Given the description of an element on the screen output the (x, y) to click on. 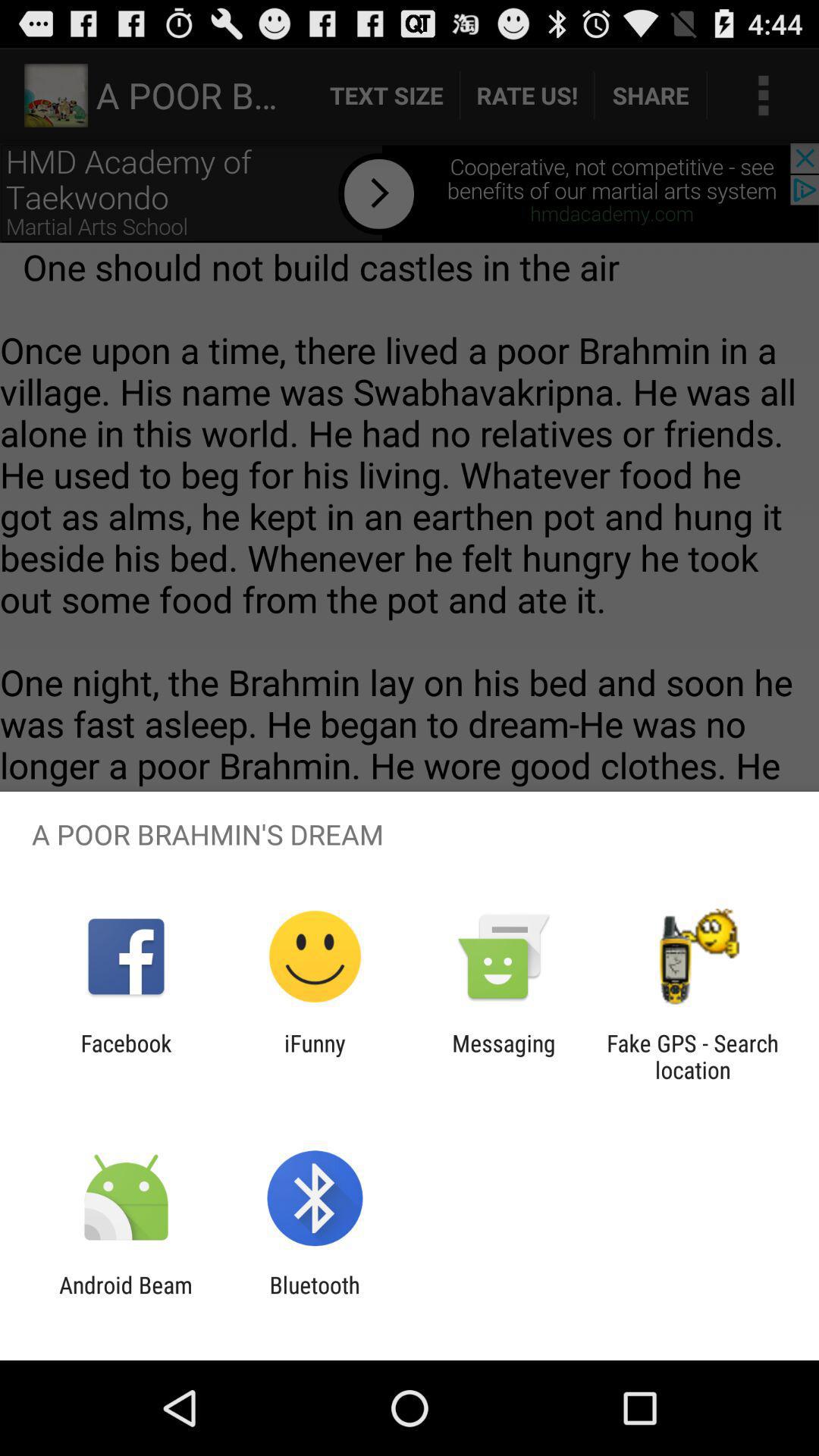
swipe until facebook (125, 1056)
